Given the description of an element on the screen output the (x, y) to click on. 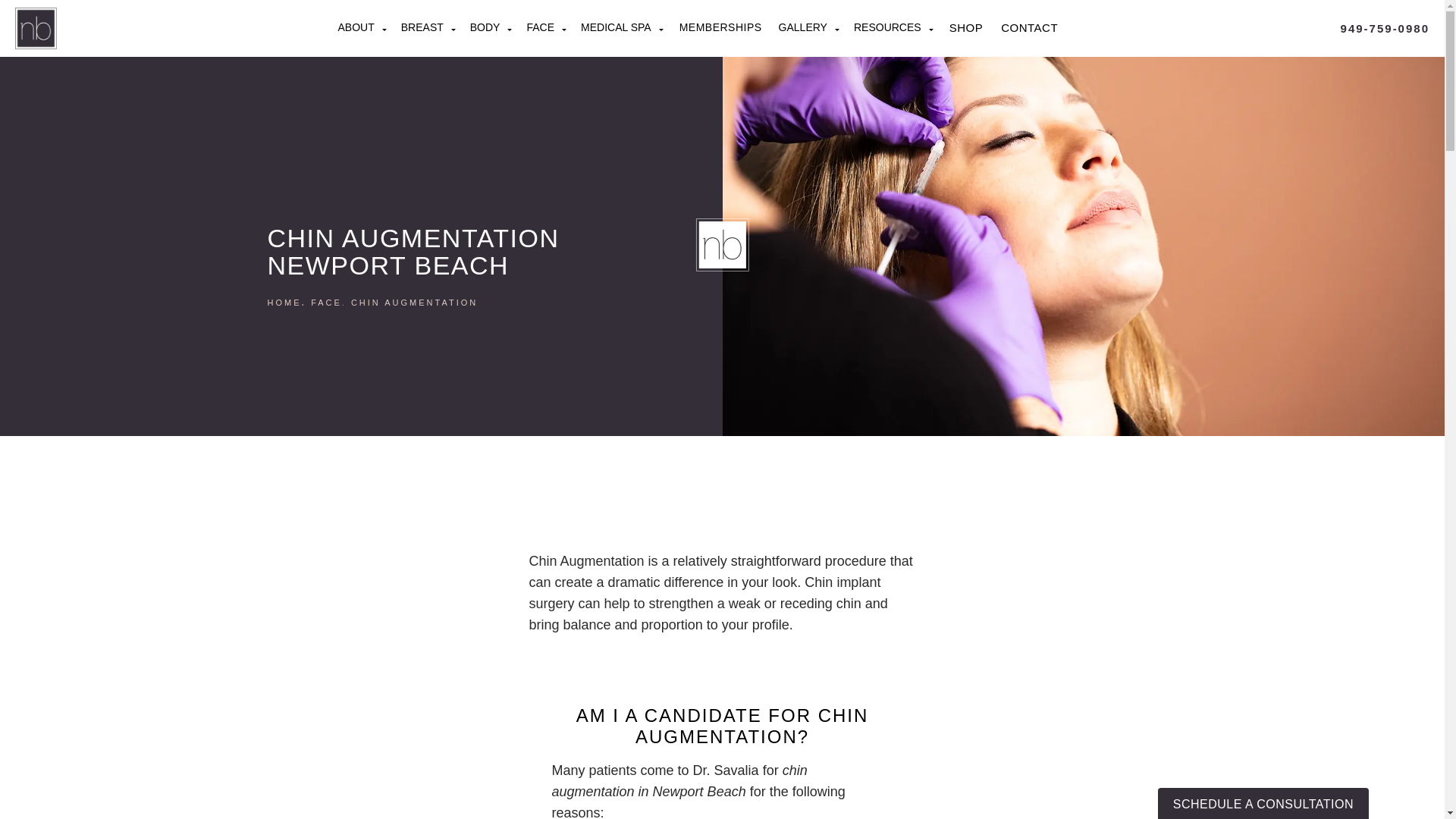
FACE (545, 27)
BODY (491, 27)
ABOUT (361, 27)
BREAST (428, 27)
